Given the description of an element on the screen output the (x, y) to click on. 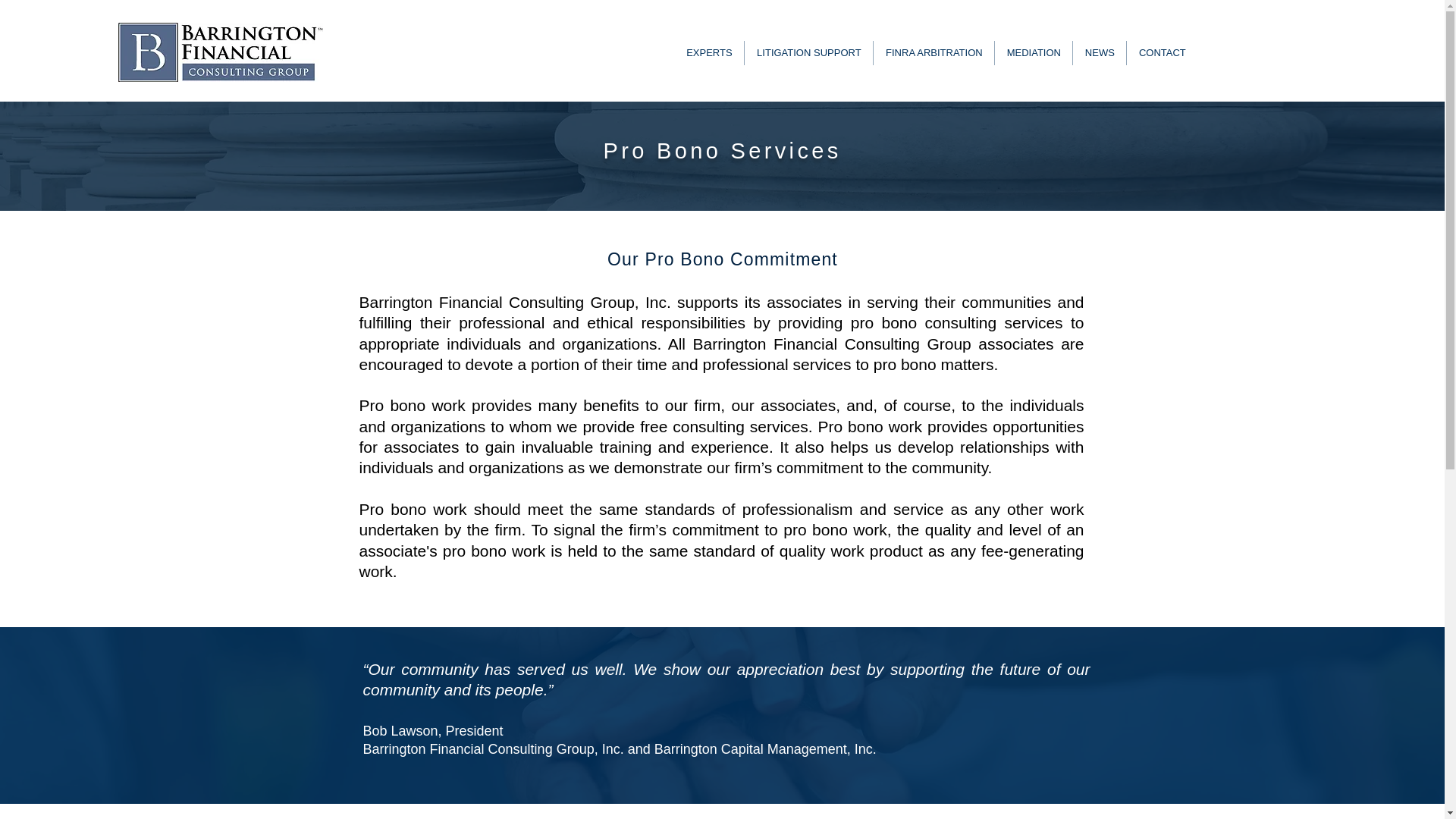
MEDIATION (1032, 52)
EXPERTS (709, 52)
LITIGATION SUPPORT (808, 52)
CONTACT (1160, 52)
NEWS (1098, 52)
FINRA ARBITRATION (933, 52)
